Given the description of an element on the screen output the (x, y) to click on. 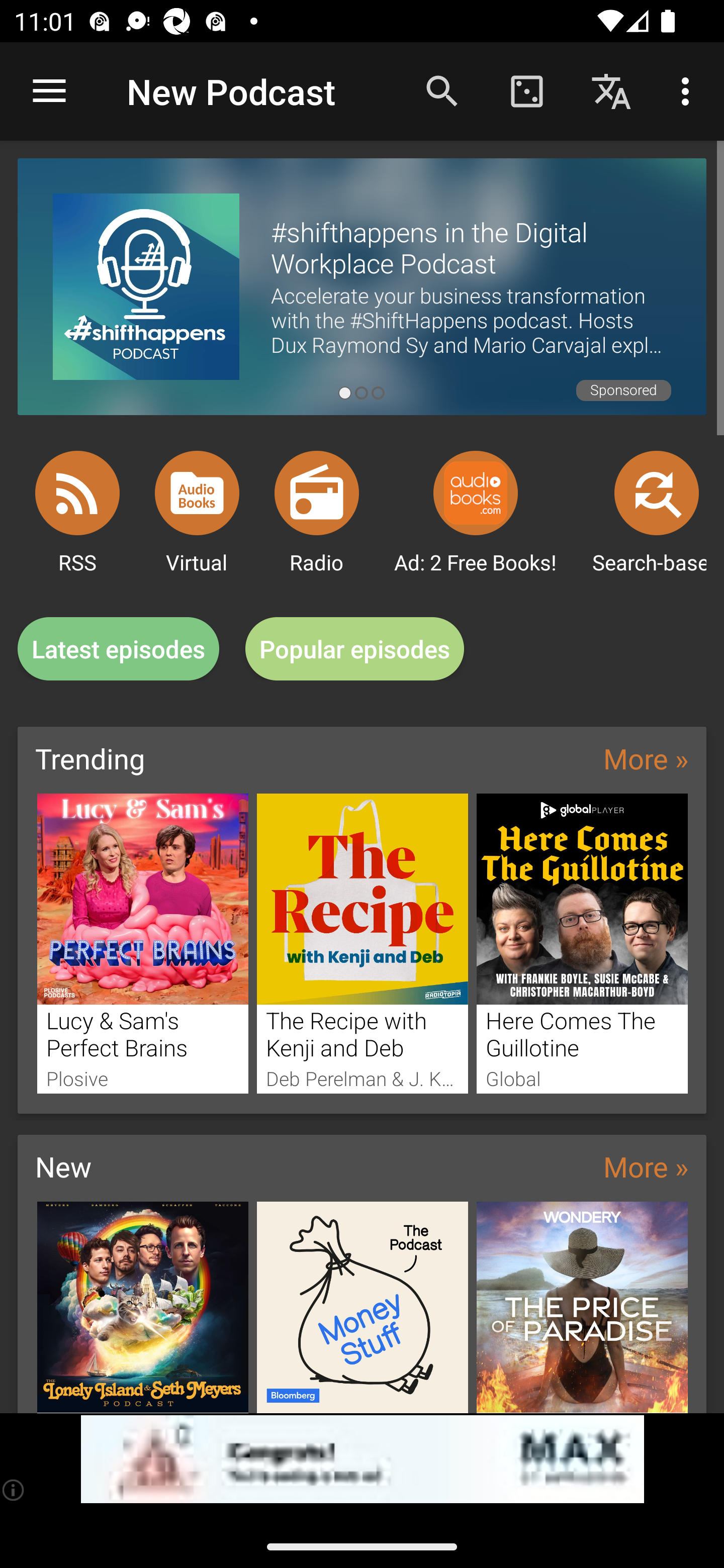
Open navigation sidebar (49, 91)
Search (442, 90)
Random pick (526, 90)
Podcast languages (611, 90)
More options (688, 90)
RSS (77, 492)
Virtual (196, 492)
Radio (316, 492)
Search-based (656, 492)
Latest episodes (118, 648)
Popular episodes (354, 648)
More » (645, 757)
Lucy & Sam's Perfect Brains Plosive (142, 942)
Here Comes The Guillotine Global (581, 942)
More » (645, 1166)
The Lonely Island and Seth Meyers Podcast (142, 1306)
Money Stuff: The Podcast (362, 1306)
The Price of Paradise (581, 1306)
app-monetization (362, 1459)
(i) (14, 1489)
